Given the description of an element on the screen output the (x, y) to click on. 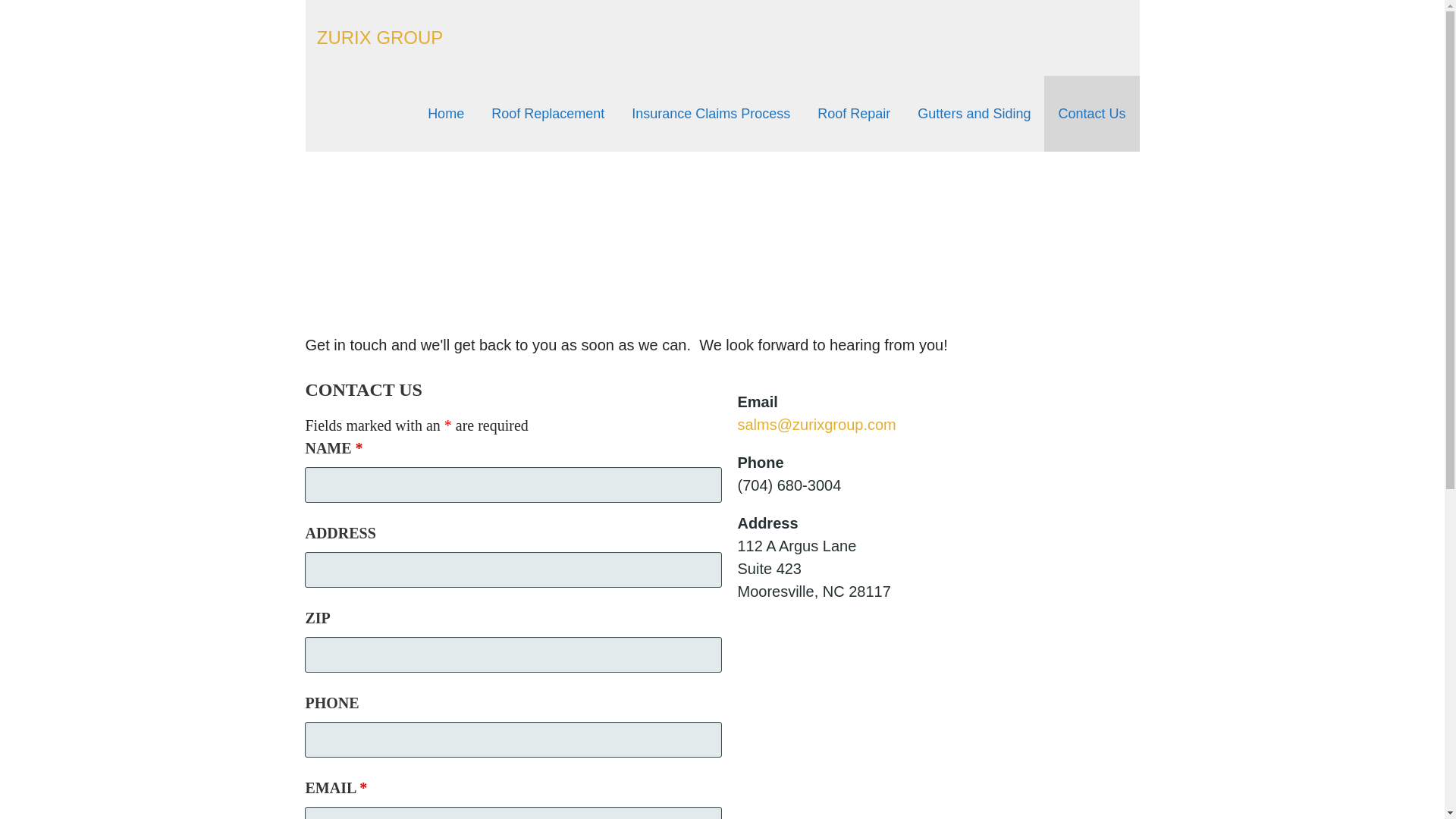
Insurance Claims Process (710, 113)
Gutters and Siding (973, 113)
Contact Us (1090, 113)
Roof Replacement (547, 113)
ZURIX GROUP (380, 37)
Roof Repair (853, 113)
